Given the description of an element on the screen output the (x, y) to click on. 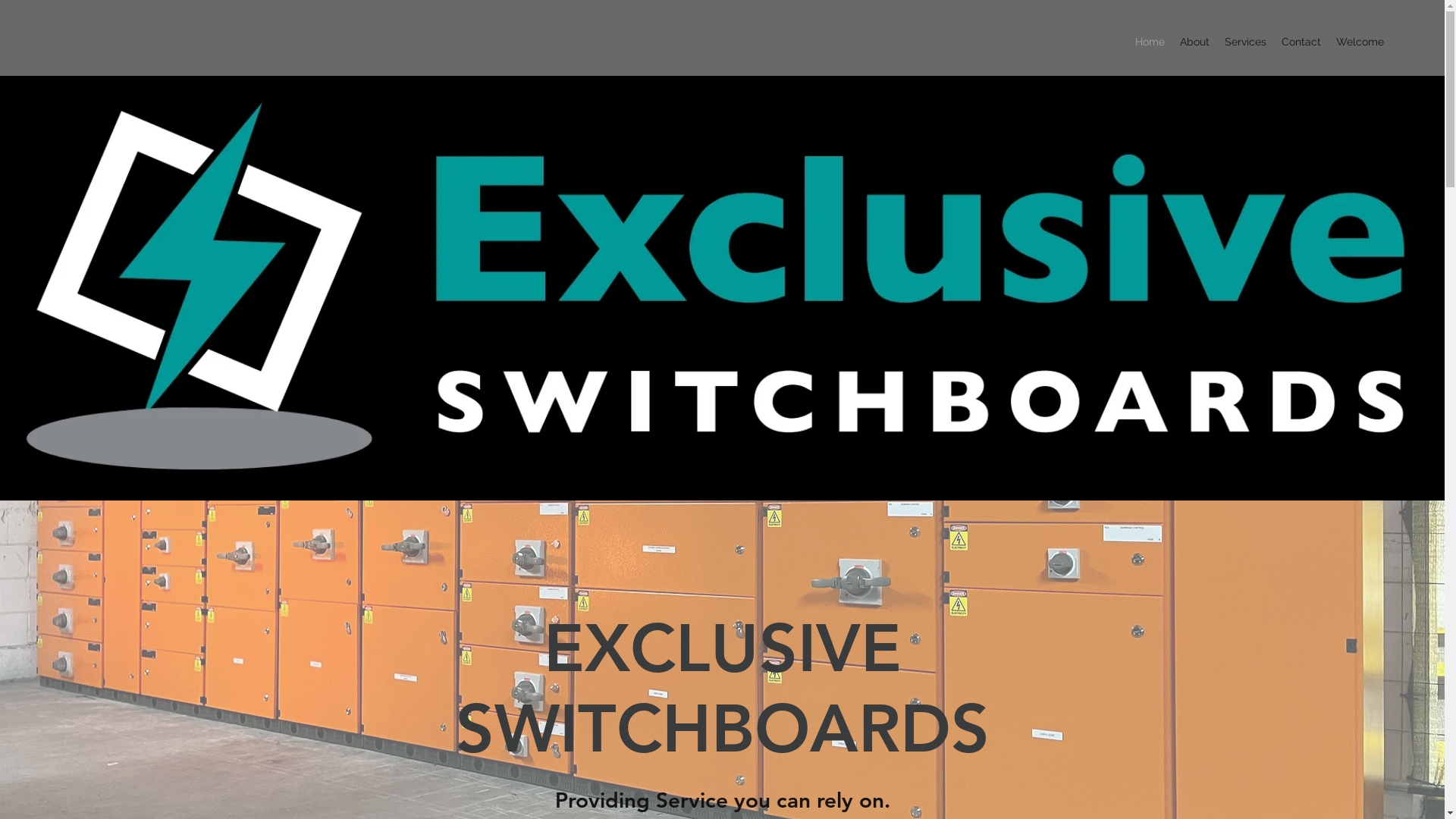
About Element type: text (1194, 41)
Contact Element type: text (1301, 41)
Services Element type: text (1245, 41)
Welcome Element type: text (1359, 41)
Home Element type: text (1149, 41)
